Given the description of an element on the screen output the (x, y) to click on. 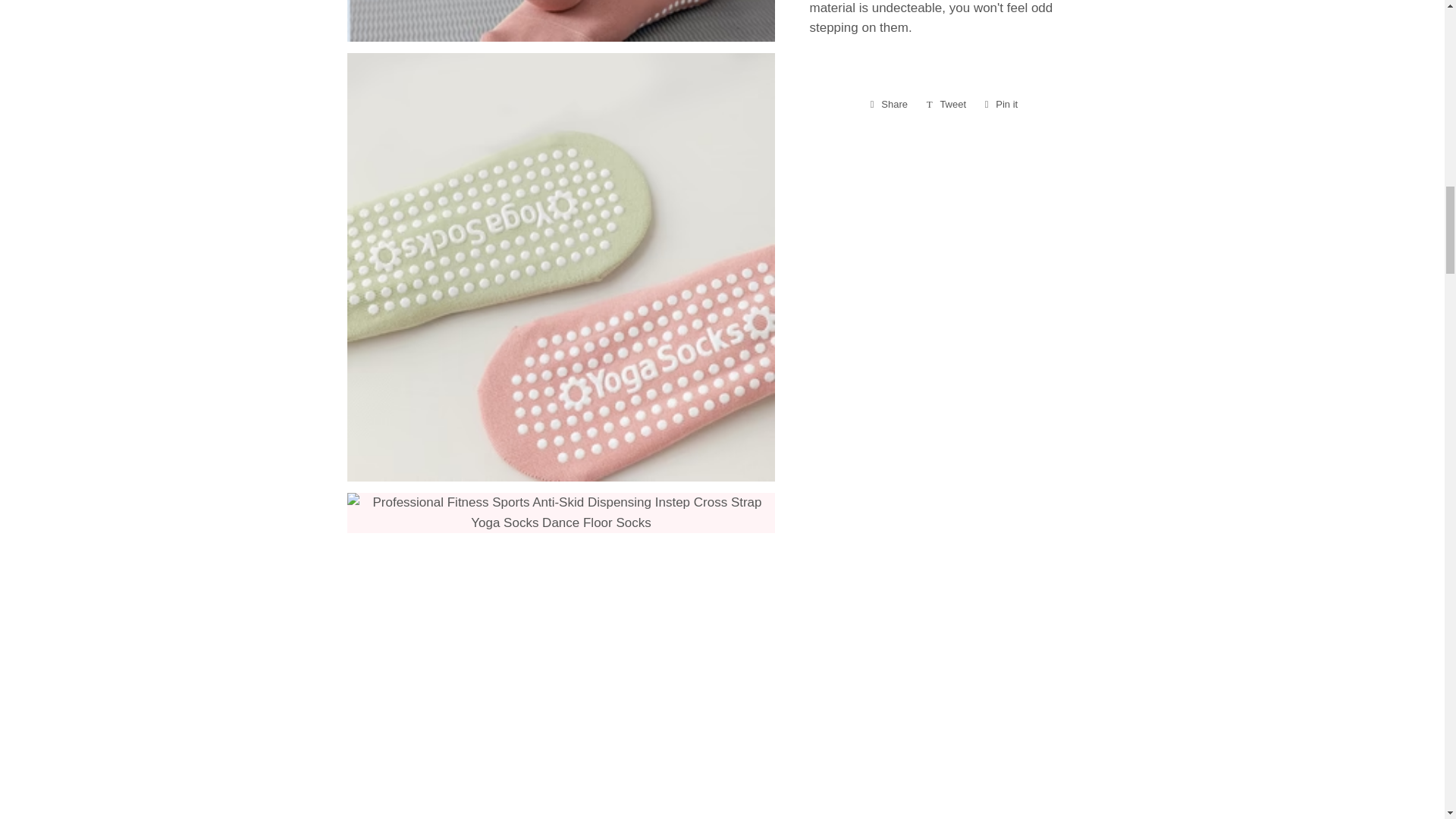
Pin on Pinterest (1000, 104)
Share on Facebook (1000, 104)
Tweet on Twitter (946, 104)
